Given the description of an element on the screen output the (x, y) to click on. 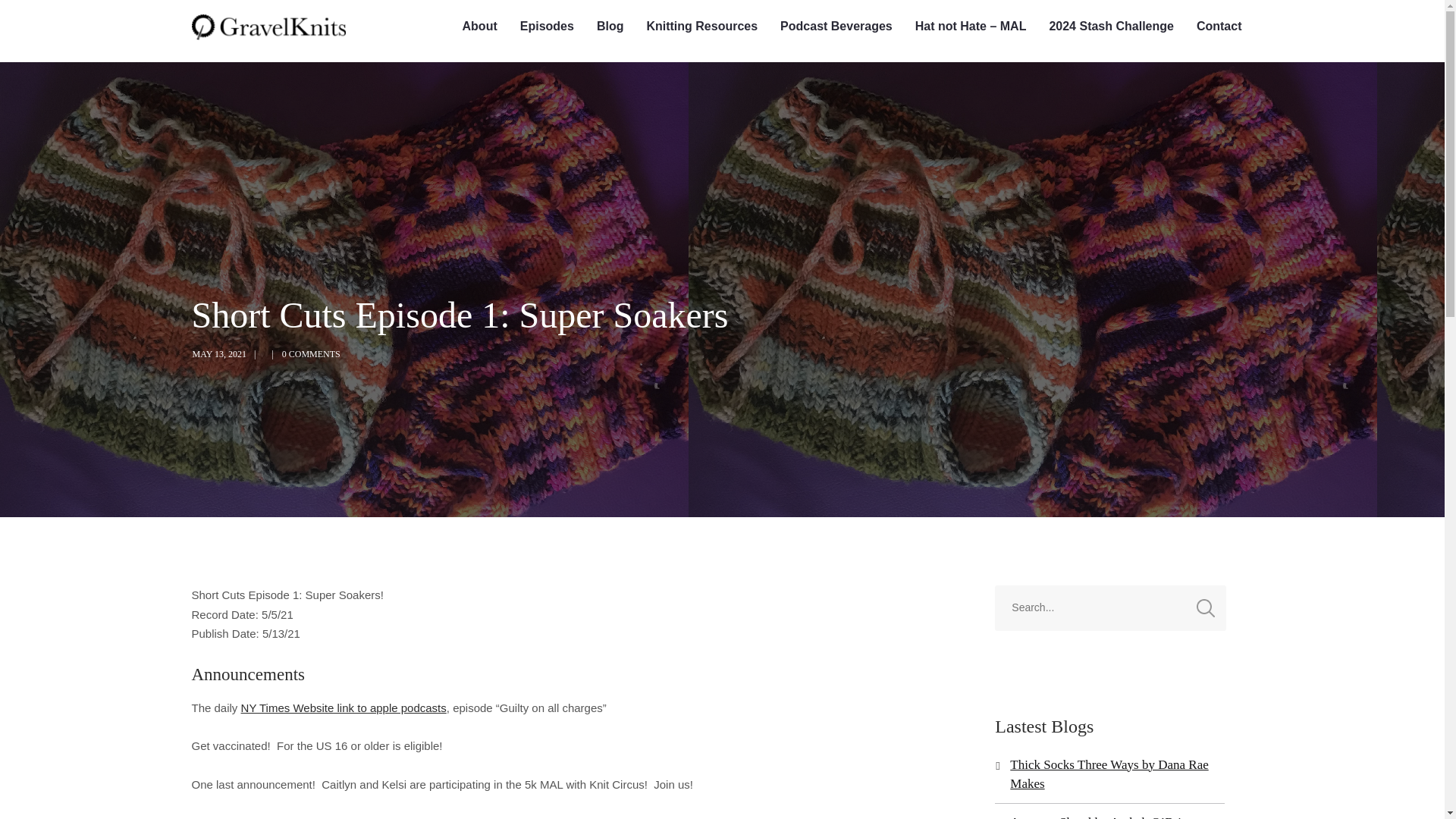
About (479, 26)
Contact (1219, 26)
Knitting Resources (701, 26)
0 COMMENTS (311, 353)
Episodes (546, 26)
Blog (609, 26)
Podcast Beverages (836, 26)
2024 Stash Challenge (1110, 26)
NY Times Website link to apple podcasts (343, 707)
